Given the description of an element on the screen output the (x, y) to click on. 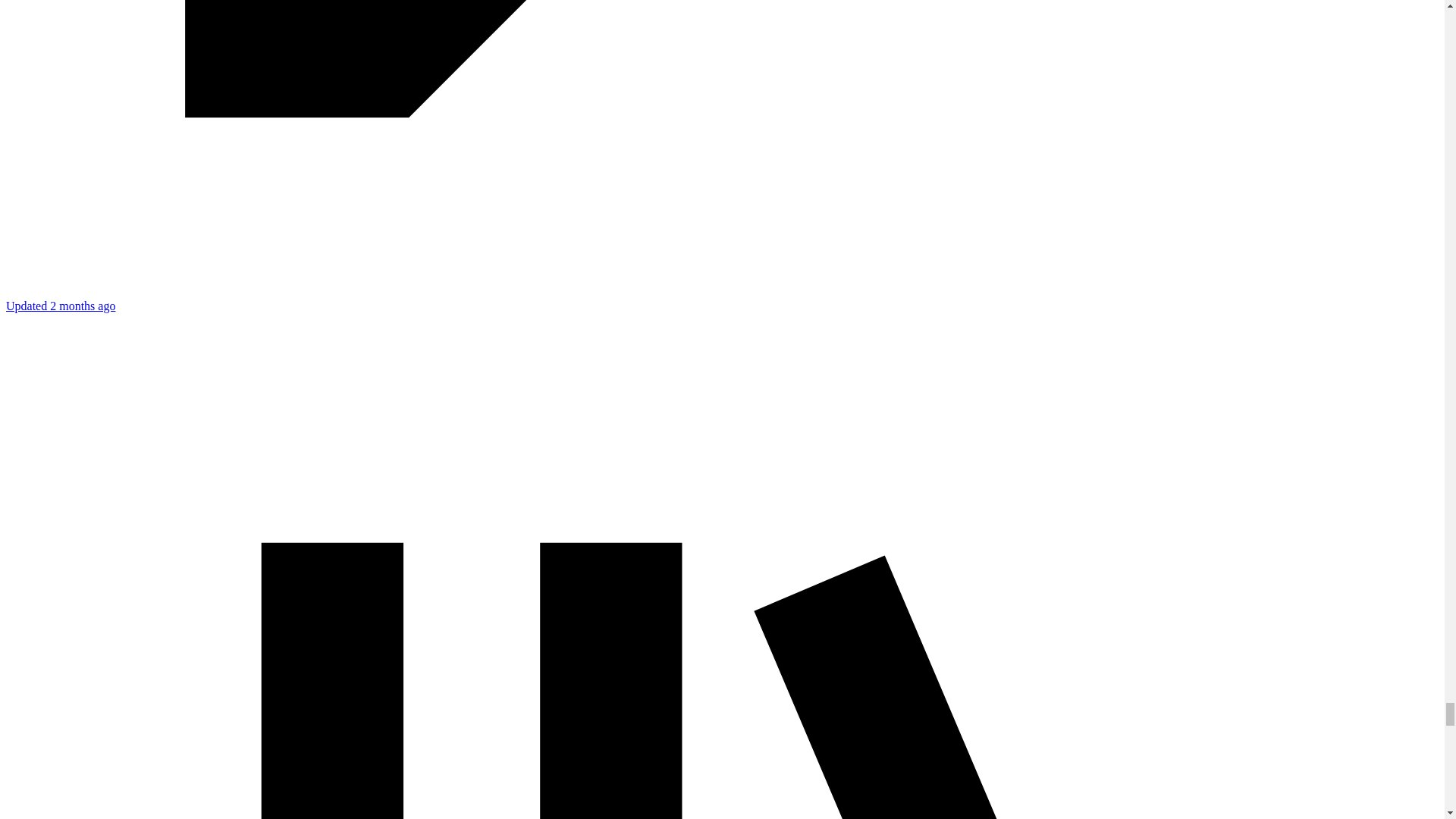
Thu, May 23, 2024 1:46 AM (60, 305)
